Given the description of an element on the screen output the (x, y) to click on. 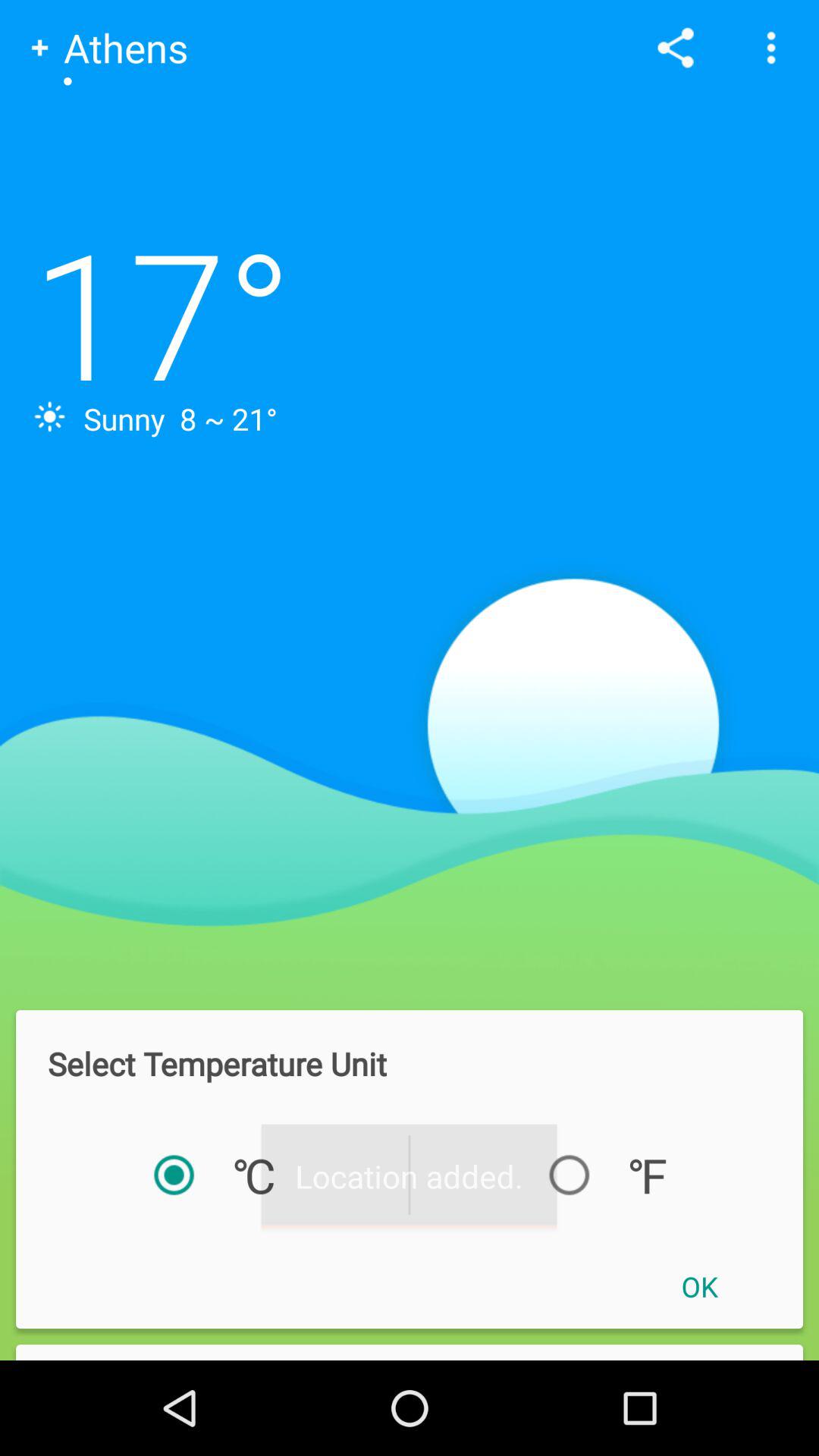
improper tagging (409, 1351)
click on the add symbol to the left of athens text (39, 47)
